Given the description of an element on the screen output the (x, y) to click on. 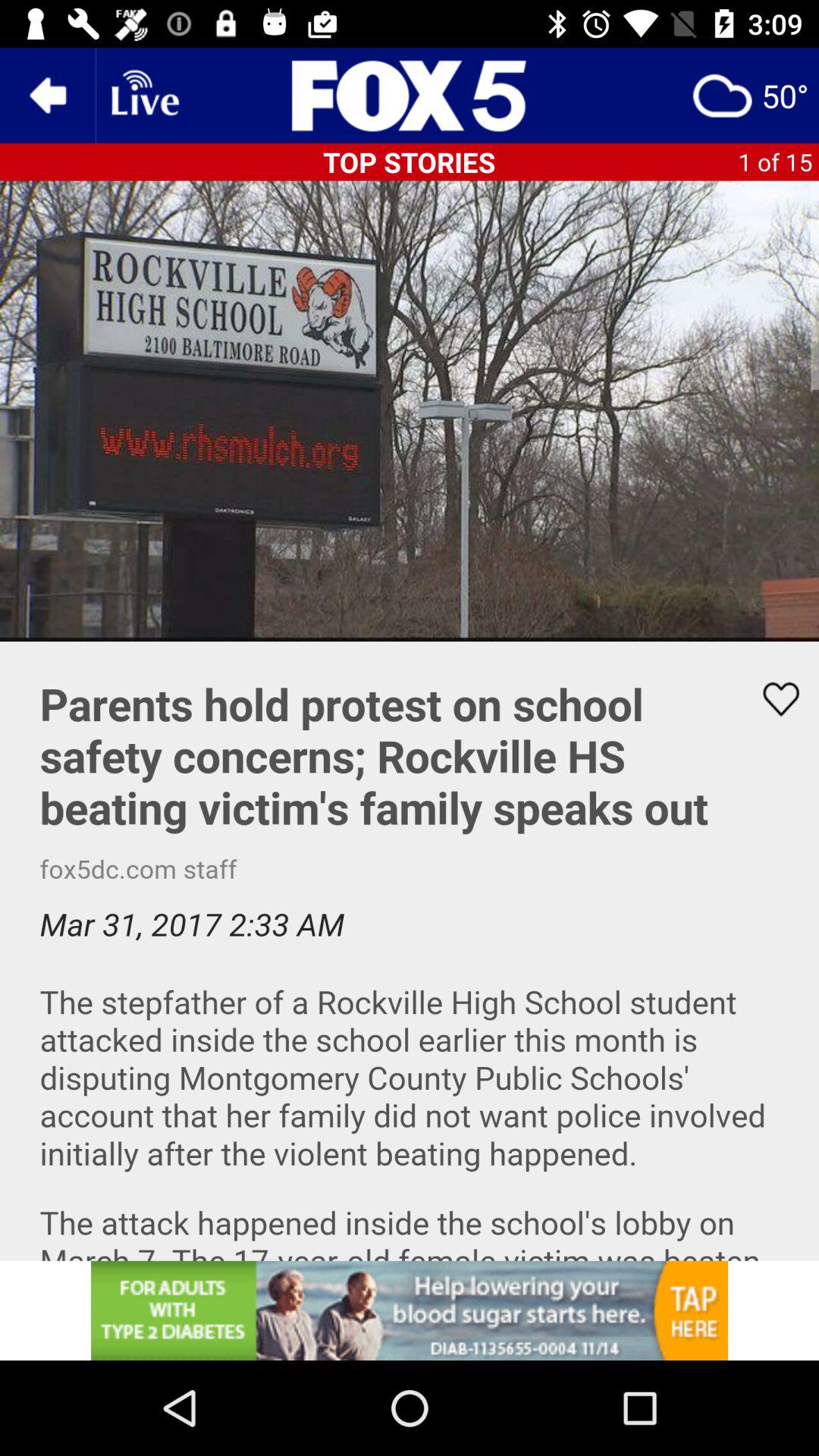
news page (409, 95)
